Given the description of an element on the screen output the (x, y) to click on. 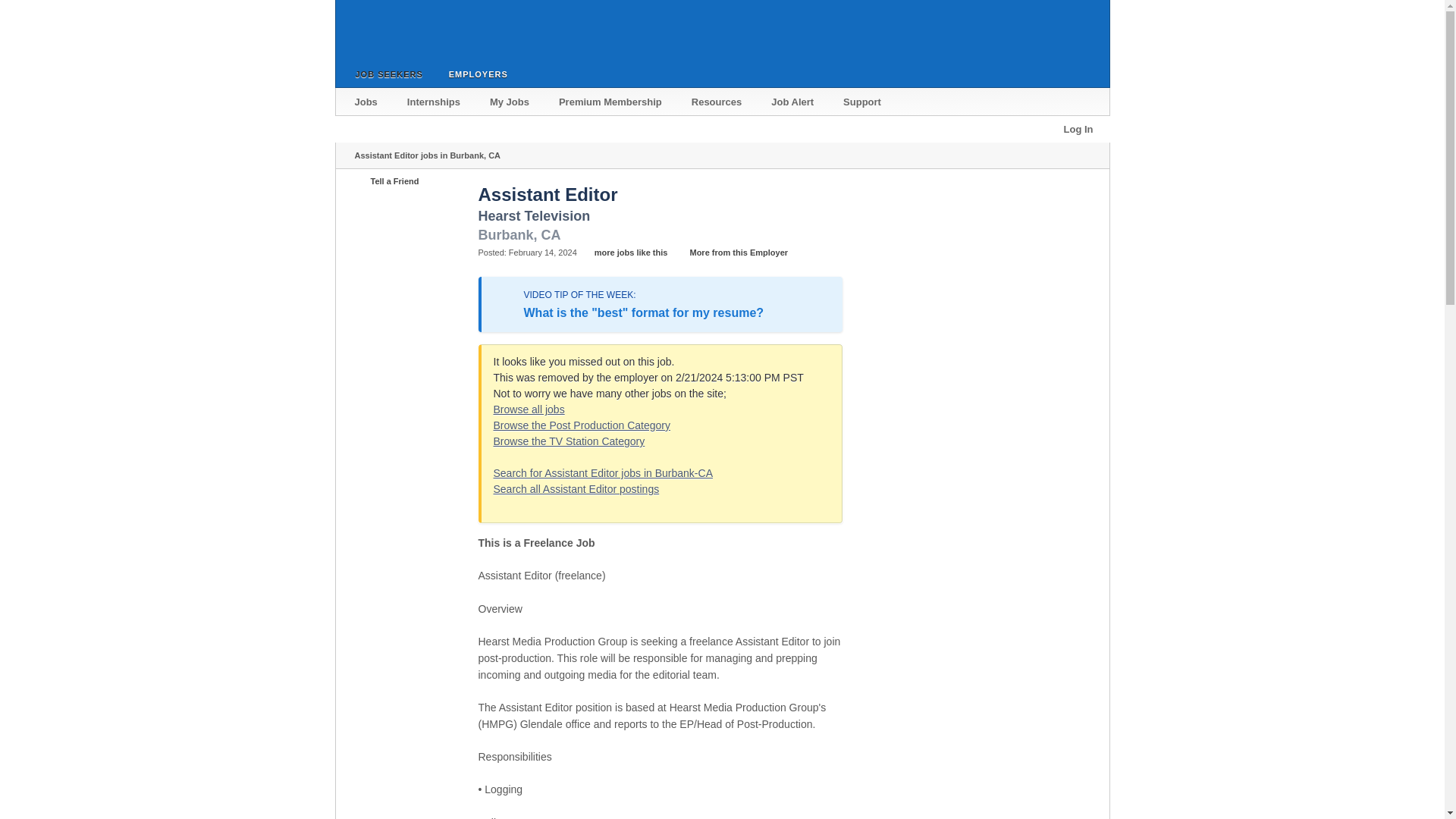
My Jobs (510, 101)
EMPLOYERS (475, 73)
Search all Assistant Editor postings (576, 489)
Browse all jobs (528, 409)
Support (862, 101)
Internships (434, 101)
Log In (1078, 128)
What is the "best" format for my resume? (642, 312)
Premium Membership (611, 101)
more jobs like this (623, 252)
